Given the description of an element on the screen output the (x, y) to click on. 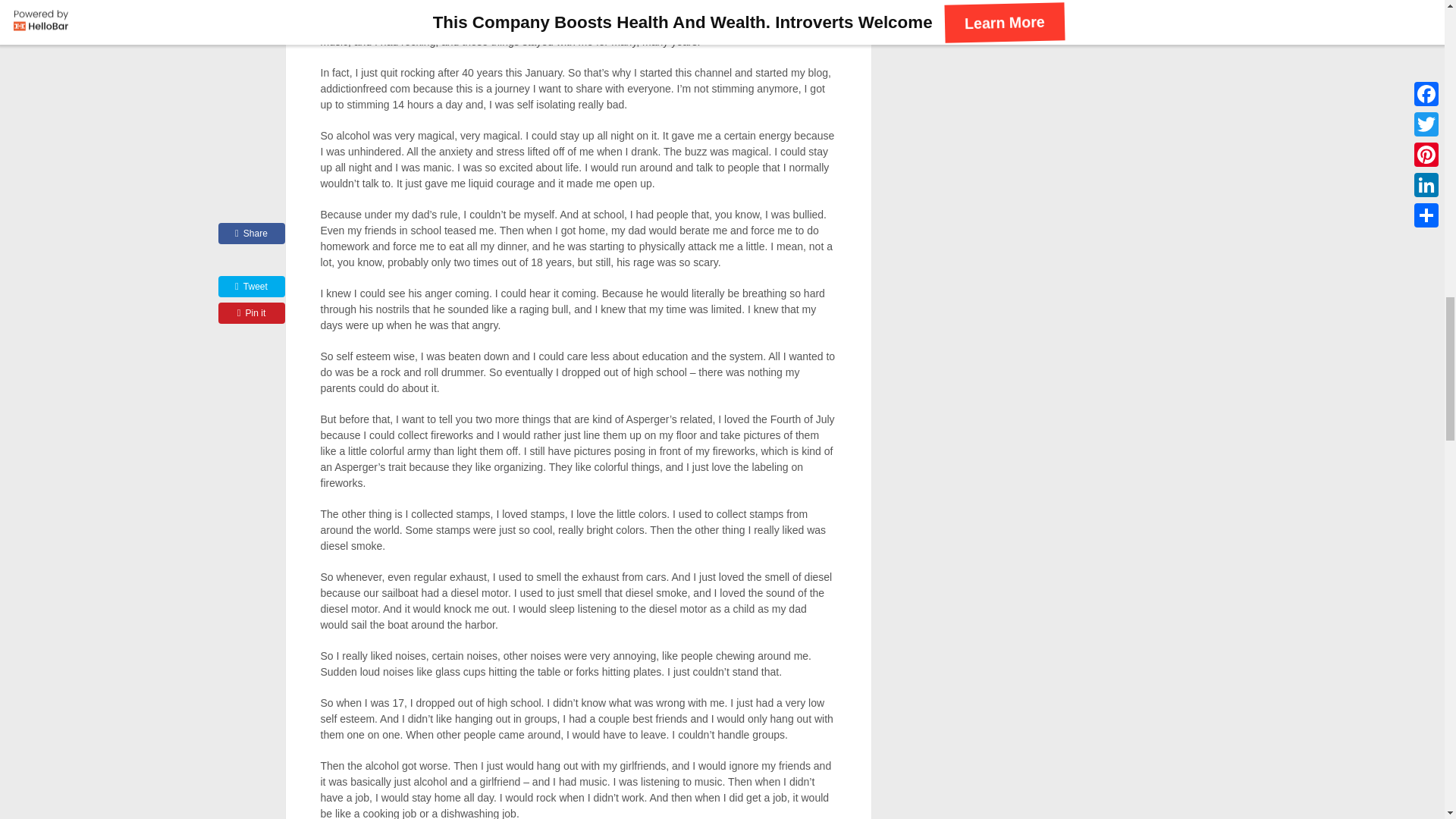
drink of alcohol (649, 25)
